Given the description of an element on the screen output the (x, y) to click on. 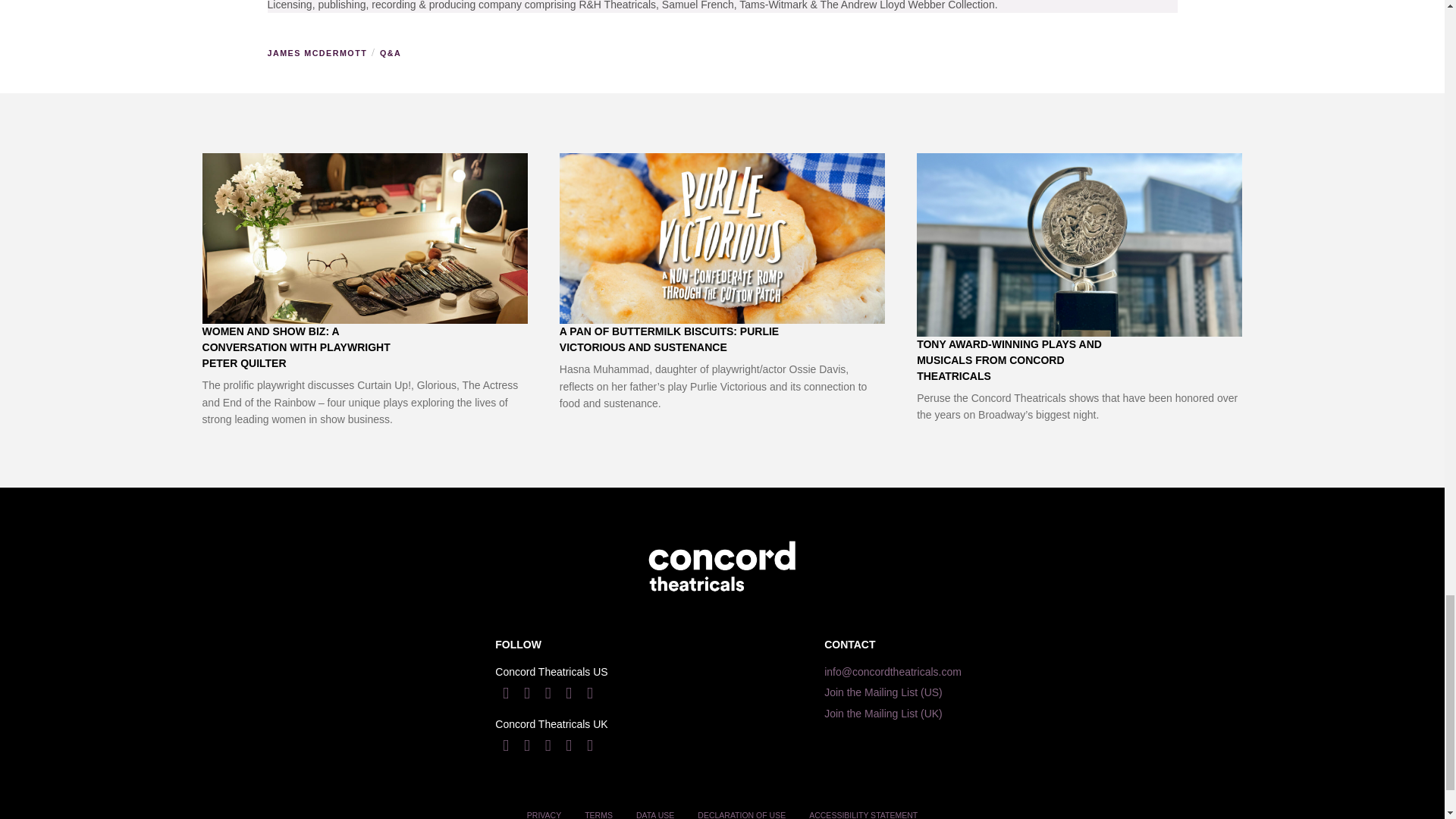
JAMES MCDERMOTT (315, 53)
